Given the description of an element on the screen output the (x, y) to click on. 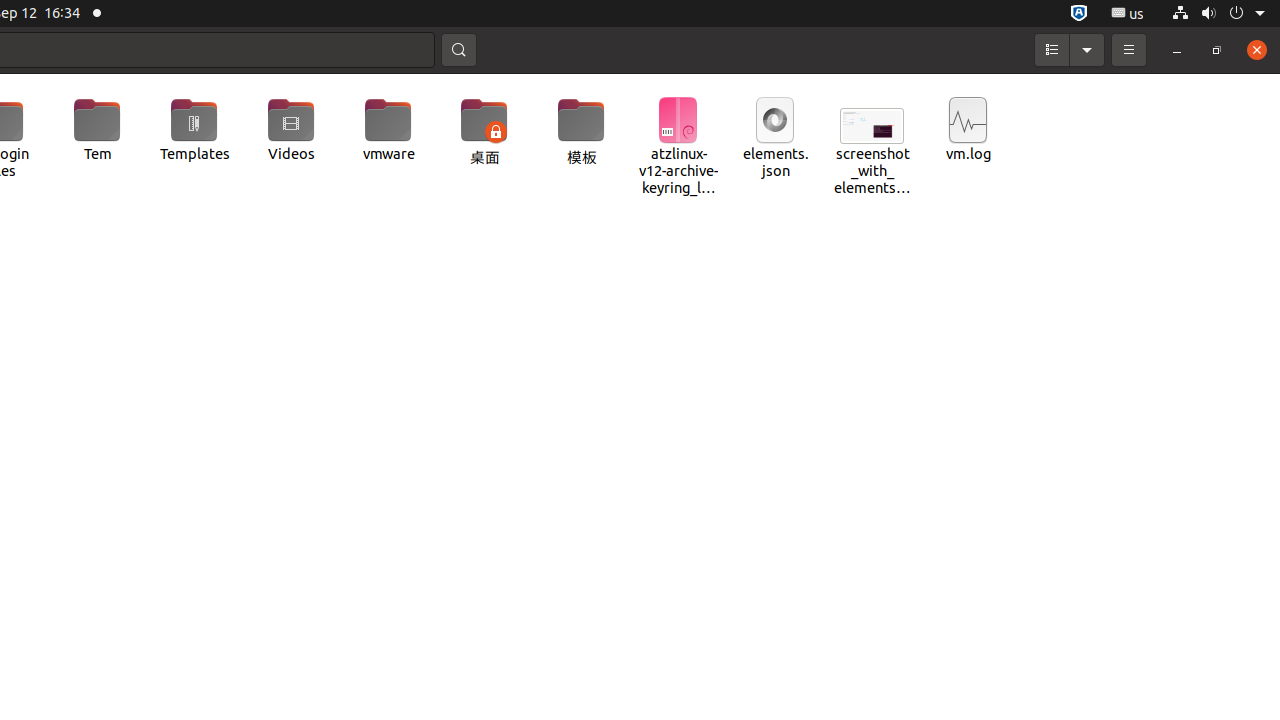
Minimize Element type: push-button (1177, 50)
atzlinux-v12-archive-keyring_lastest_all.deb Element type: canvas (678, 147)
vmware Element type: canvas (387, 130)
